Given the description of an element on the screen output the (x, y) to click on. 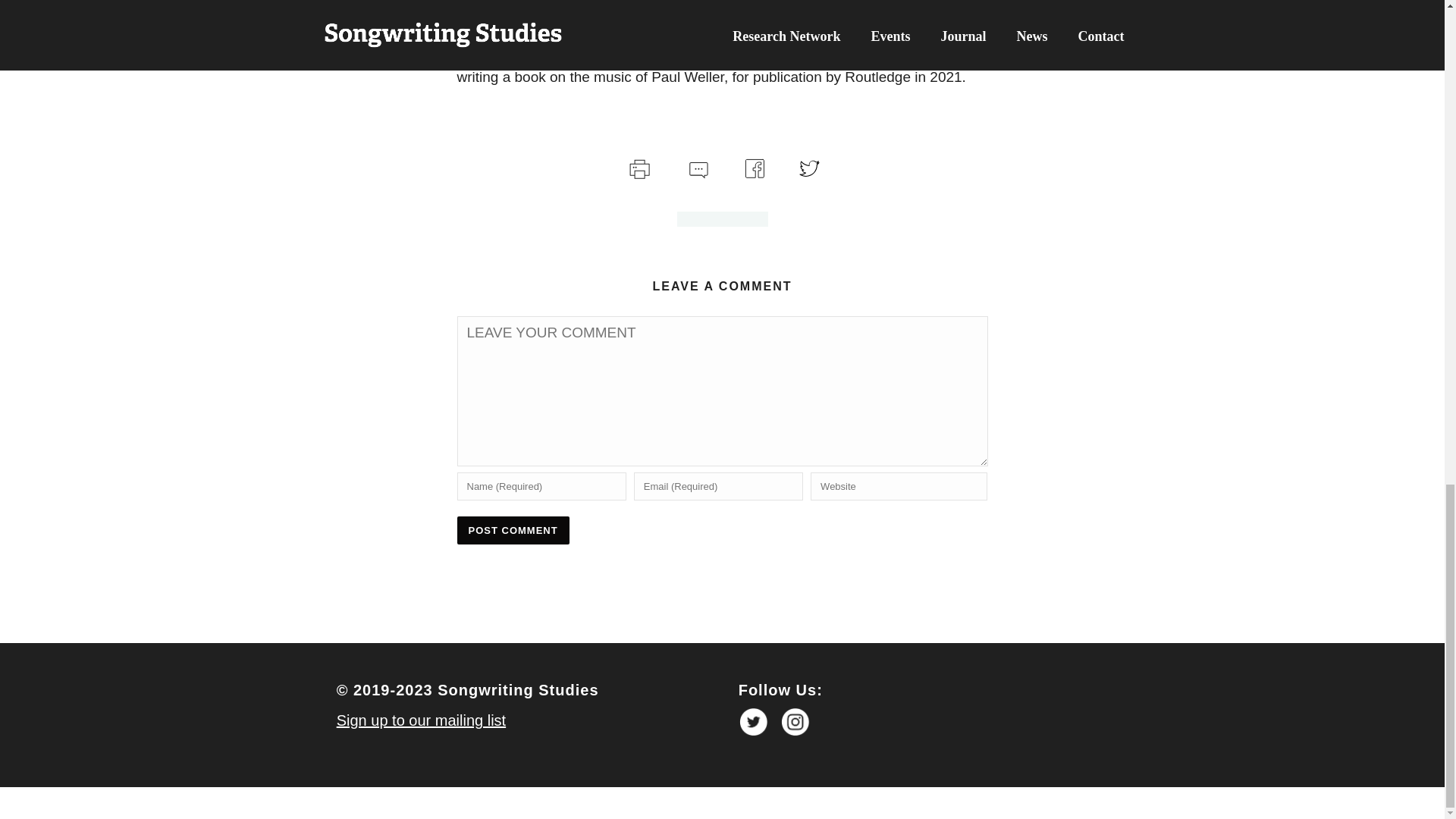
POST COMMENT (513, 530)
Sign up to our mailing list (420, 719)
POST COMMENT (513, 530)
Print (638, 166)
